Given the description of an element on the screen output the (x, y) to click on. 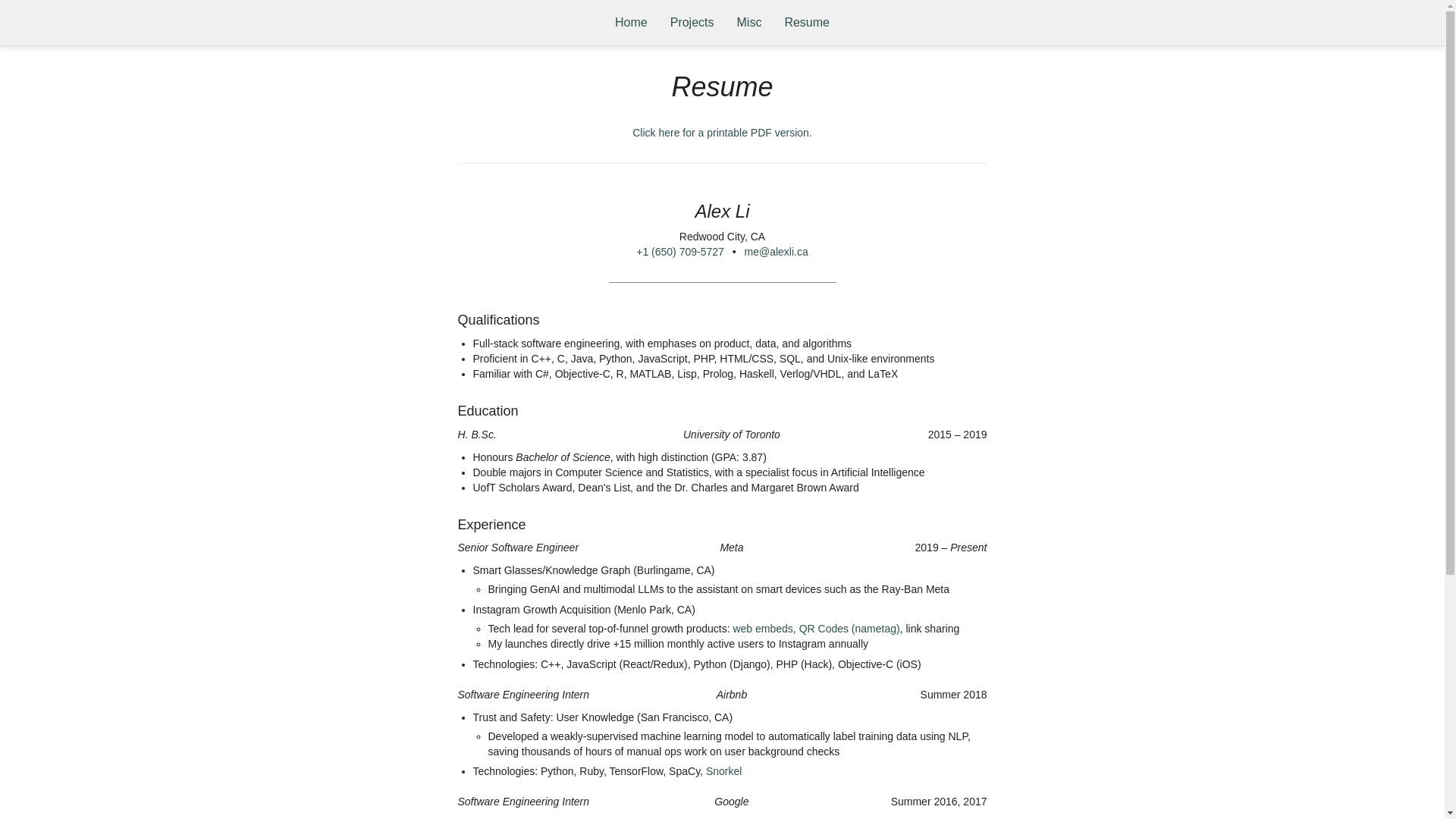
Click here for a printable PDF version. Element type: text (722, 132)
Misc Element type: text (748, 22)
Home Element type: text (630, 22)
Snorkel Element type: text (723, 771)
web embeds Element type: text (762, 628)
QR Codes (nametag) Element type: text (849, 628)
me@alexli.ca Element type: text (776, 251)
+1 (650) 709-5727 Element type: text (680, 251)
Projects Element type: text (691, 22)
Resume Element type: text (806, 22)
